Given the description of an element on the screen output the (x, y) to click on. 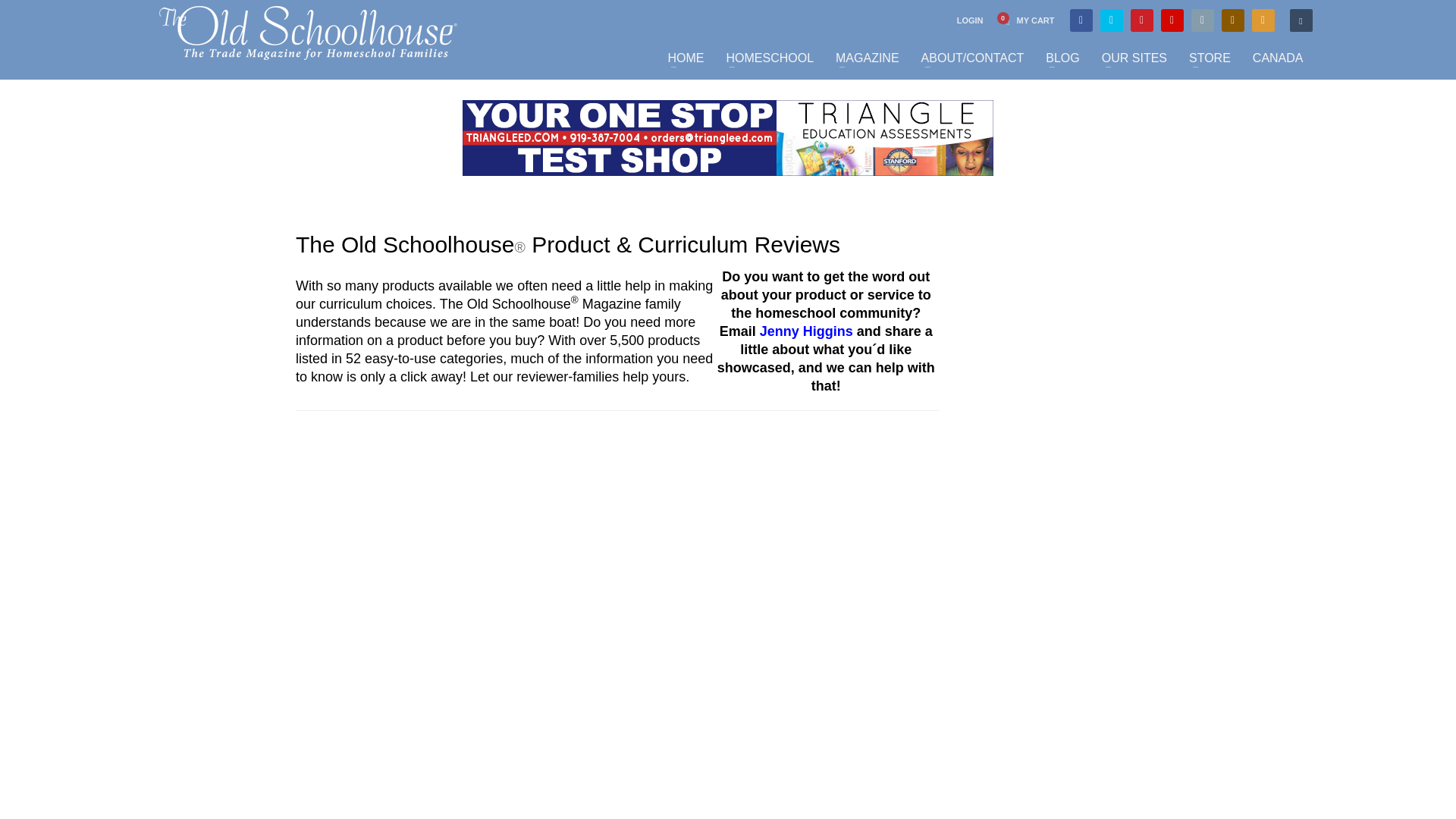
Pinterest (1142, 20)
LOGIN (970, 20)
HOME (685, 57)
YouTube (1171, 20)
iTunes (1202, 20)
MY CART (1025, 20)
Facebook (1081, 20)
View your shopping cart (1025, 20)
Twitter (1111, 20)
RSS Feeds (1263, 20)
